Given the description of an element on the screen output the (x, y) to click on. 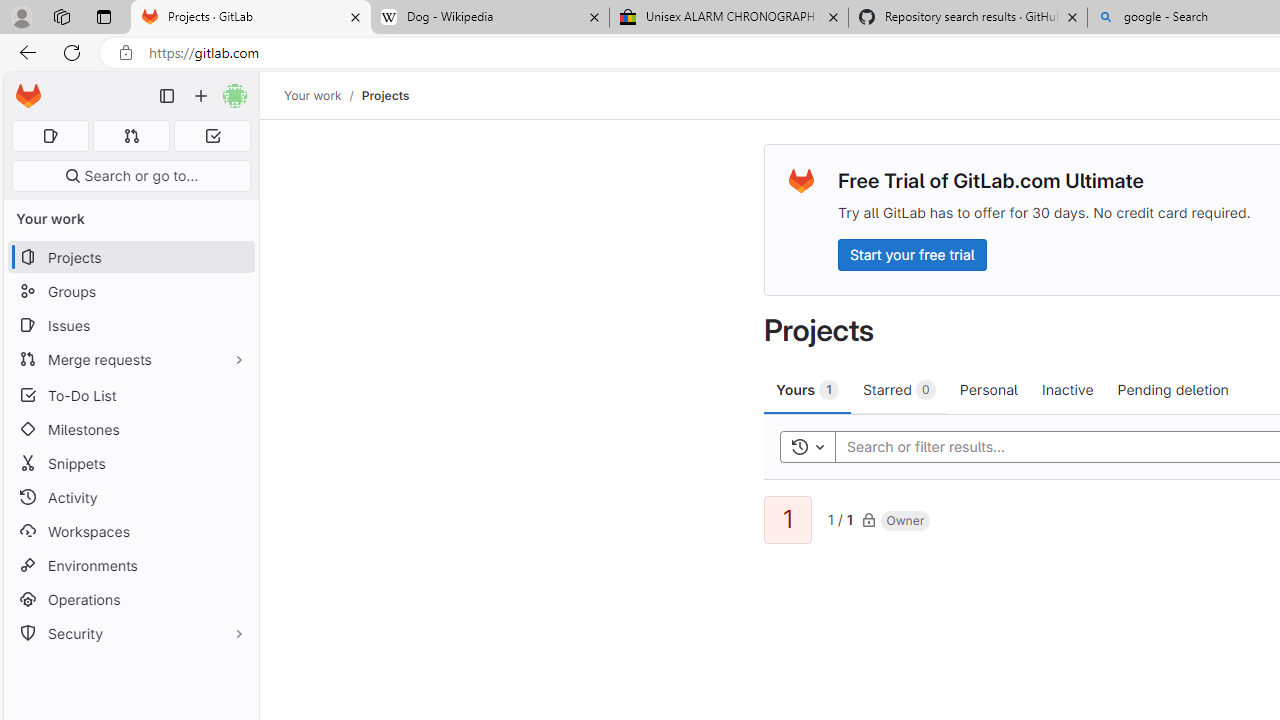
Groups (130, 291)
Merge requests 0 (131, 136)
Assigned issues 0 (50, 136)
Pending deletion (1172, 389)
Milestones (130, 429)
Your work/ (323, 95)
Merge requests (130, 358)
To-Do List (130, 394)
